Given the description of an element on the screen output the (x, y) to click on. 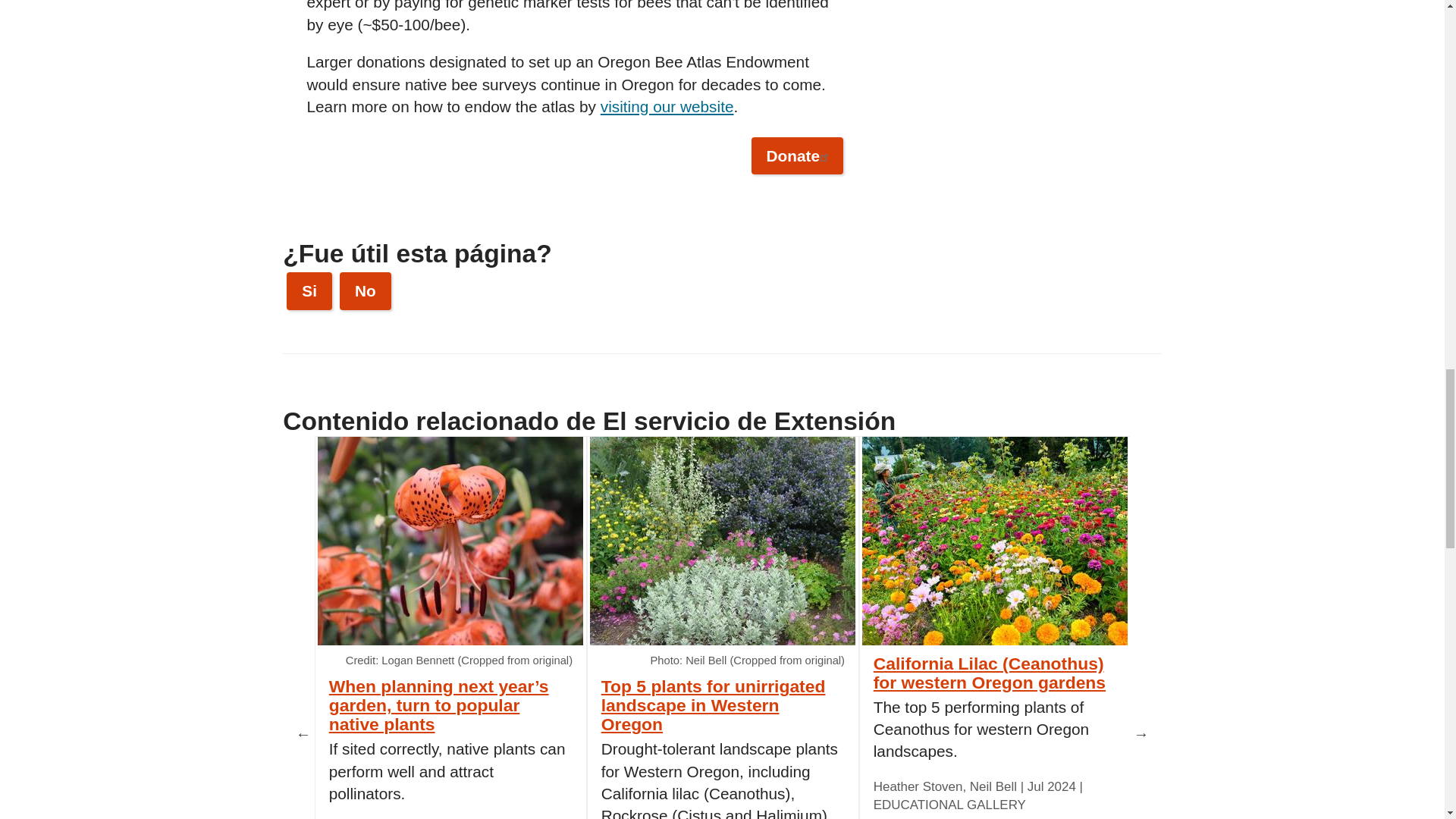
Top 5 plants for unirrigated landscape in Western Oregon (723, 540)
